Given the description of an element on the screen output the (x, y) to click on. 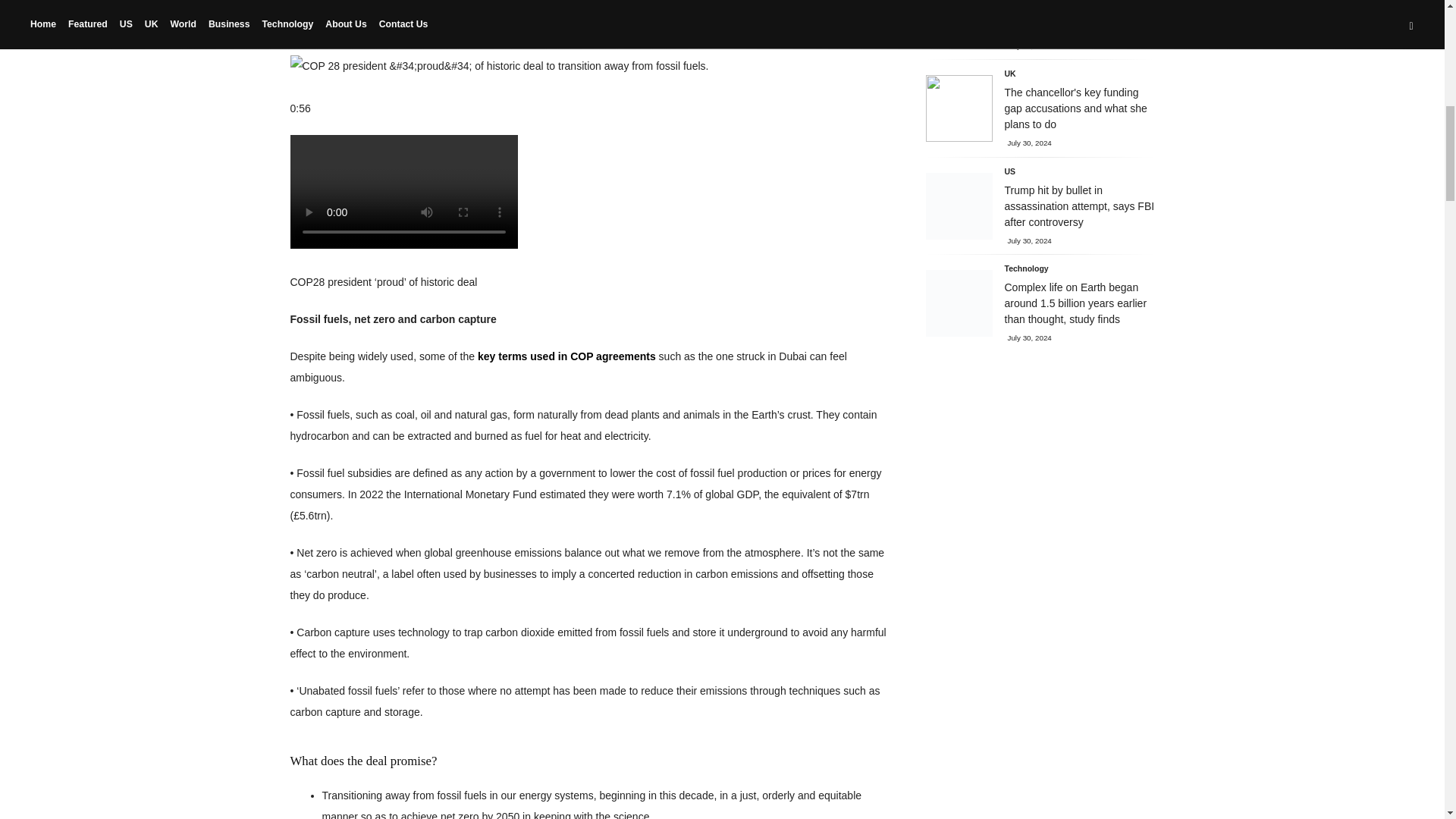
key terms used in COP agreements (566, 356)
